Given the description of an element on the screen output the (x, y) to click on. 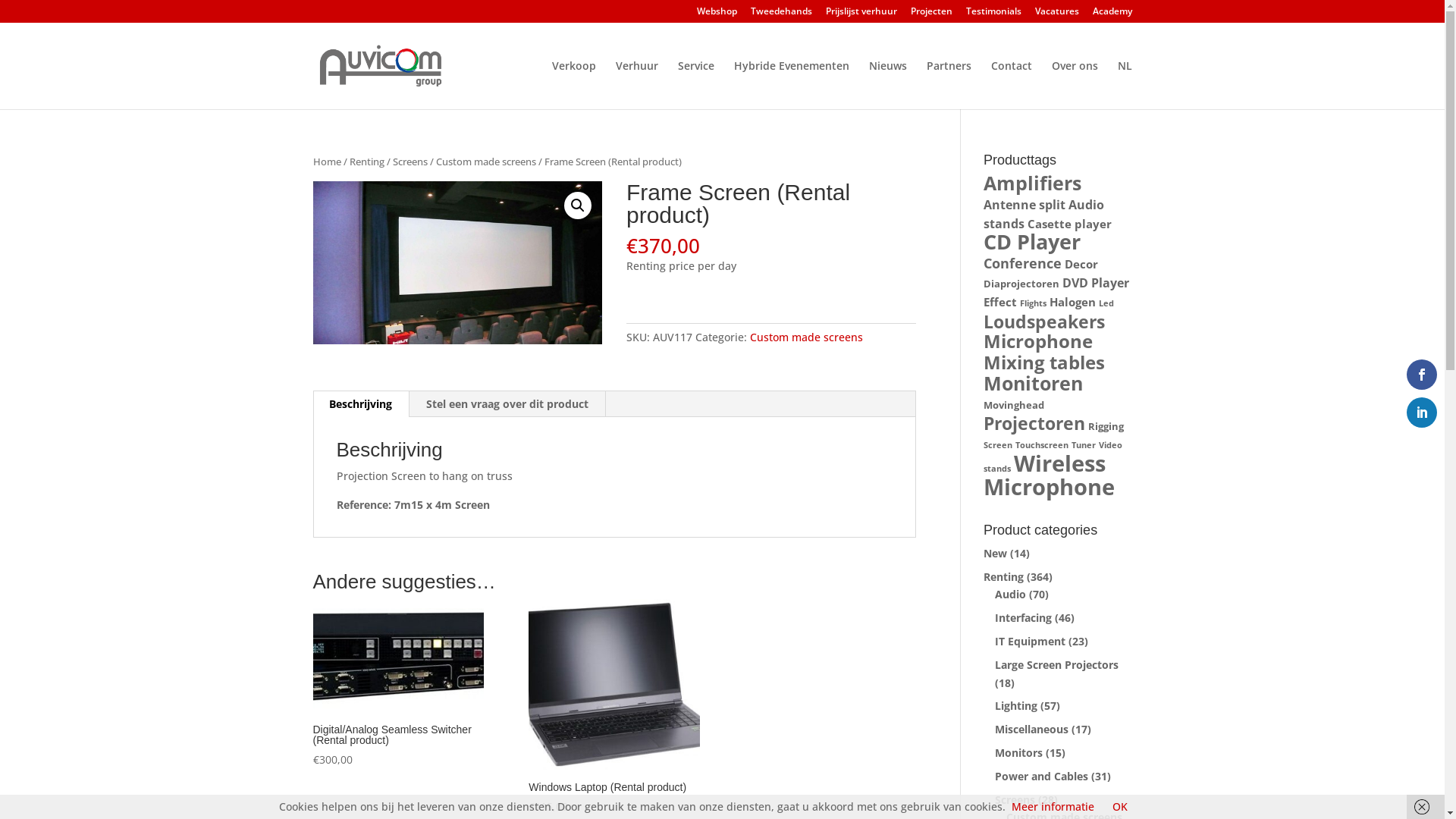
Nieuws Element type: text (887, 84)
Screen Element type: text (997, 444)
Rigging Element type: text (1105, 426)
CD Player Element type: text (1031, 241)
Halogen Element type: text (1072, 301)
Led Element type: text (1105, 303)
Microphone Element type: text (1037, 341)
NL Element type: text (1124, 84)
Home Element type: text (326, 161)
Verkoop Element type: text (574, 84)
Over ons Element type: text (1074, 84)
Beschrijving Element type: text (360, 404)
DVD Player Element type: text (1095, 282)
Hybride Evenementen Element type: text (791, 84)
Diaprojectoren Element type: text (1021, 283)
Casette player Element type: text (1069, 223)
Projectoren Element type: text (1034, 423)
large475_Frame-screen.jpg Element type: hover (457, 262)
Video stands Element type: text (1052, 456)
Conference Element type: text (1022, 263)
Custom made screens Element type: text (805, 336)
Verhuur Element type: text (636, 84)
Flights Element type: text (1032, 303)
IT Equipment Element type: text (1029, 640)
Renting Element type: text (365, 161)
Large Screen Projectors Element type: text (1056, 664)
Audio Element type: text (1010, 593)
Projecten Element type: text (930, 14)
Tweedehands Element type: text (781, 14)
Prijslijst verhuur Element type: text (860, 14)
Custom made screens Element type: text (485, 161)
Meer informatie Element type: text (1052, 806)
Movinghead Element type: text (1013, 404)
Audio stands Element type: text (1043, 213)
Stel een vraag over dit product Element type: text (507, 404)
Effect Element type: text (999, 301)
Testimonials Element type: text (993, 14)
Power and Cables Element type: text (1041, 775)
Loudspeakers Element type: text (1043, 321)
Screens Element type: text (1014, 799)
Academy Element type: text (1111, 14)
Renting Element type: text (1003, 576)
Interfacing Element type: text (1022, 617)
Amplifiers Element type: text (1032, 182)
Wireless Microphone Element type: text (1048, 475)
New Element type: text (995, 553)
Contact Element type: text (1010, 84)
Screens Element type: text (409, 161)
Decor Element type: text (1081, 263)
Service Element type: text (695, 84)
Mixing tables Element type: text (1043, 361)
Vacatures Element type: text (1056, 14)
Tuner Element type: text (1083, 444)
Partners Element type: text (948, 84)
OK Element type: text (1119, 806)
Lighting Element type: text (1015, 705)
Webshop Element type: text (716, 14)
Miscellaneous Element type: text (1031, 728)
Touchscreen Element type: text (1041, 444)
Monitors Element type: text (1018, 752)
Monitoren Element type: text (1032, 382)
Antenne split Element type: text (1024, 204)
